Given the description of an element on the screen output the (x, y) to click on. 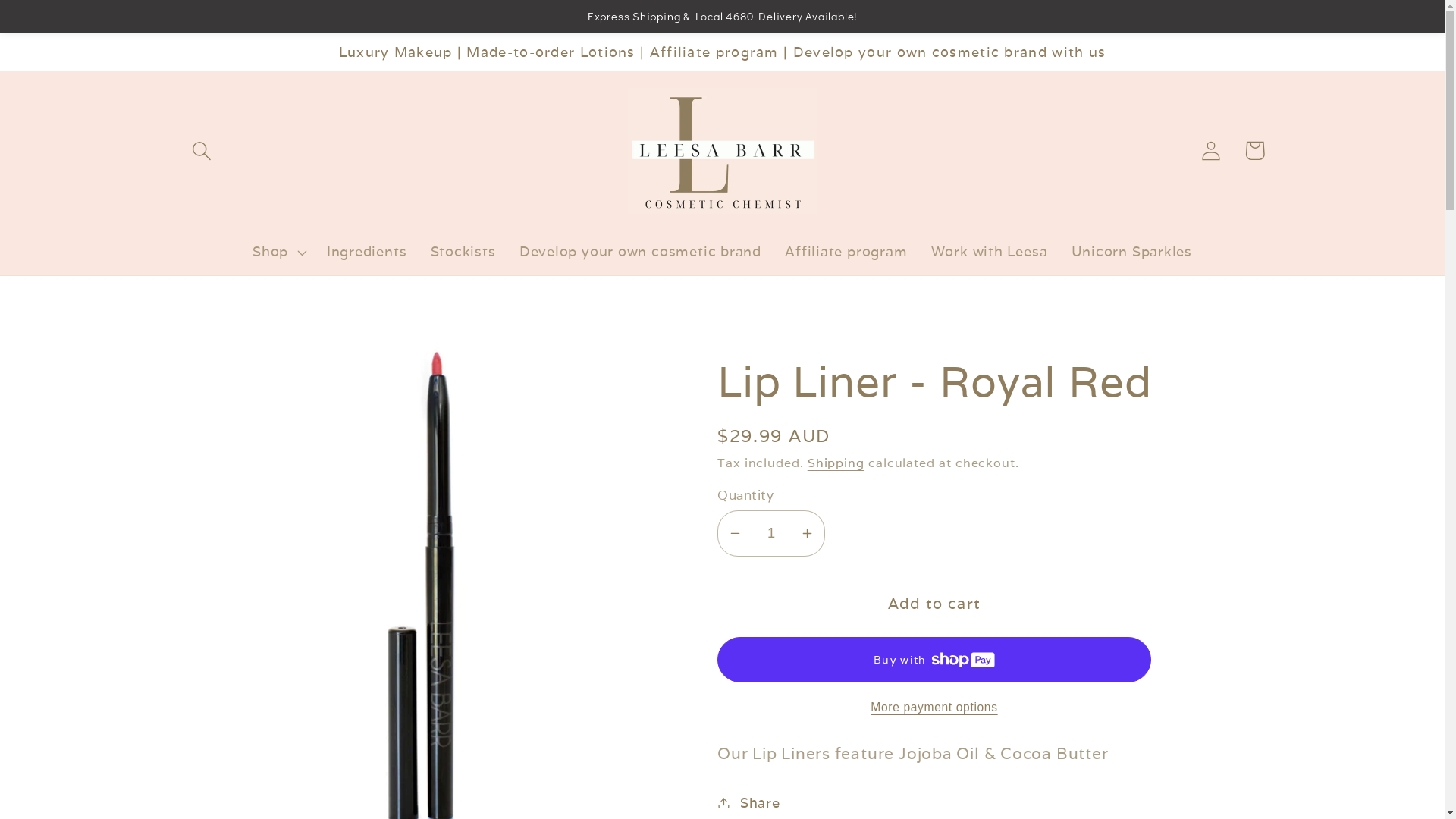
Increase quantity for Lip Liner - Royal Red Element type: text (807, 533)
Ingredients Element type: text (366, 251)
Unicorn Sparkles Element type: text (1131, 251)
Skip to product information Element type: text (238, 361)
More payment options Element type: text (934, 707)
Log in Element type: text (1211, 150)
Develop your own cosmetic brand Element type: text (639, 251)
Stockists Element type: text (462, 251)
Add to cart Element type: text (934, 603)
Cart Element type: text (1254, 150)
Affiliate program Element type: text (846, 251)
Decrease quantity for Lip Liner - Royal Red Element type: text (735, 533)
Work with Leesa Element type: text (989, 251)
Shipping Element type: text (835, 462)
